Given the description of an element on the screen output the (x, y) to click on. 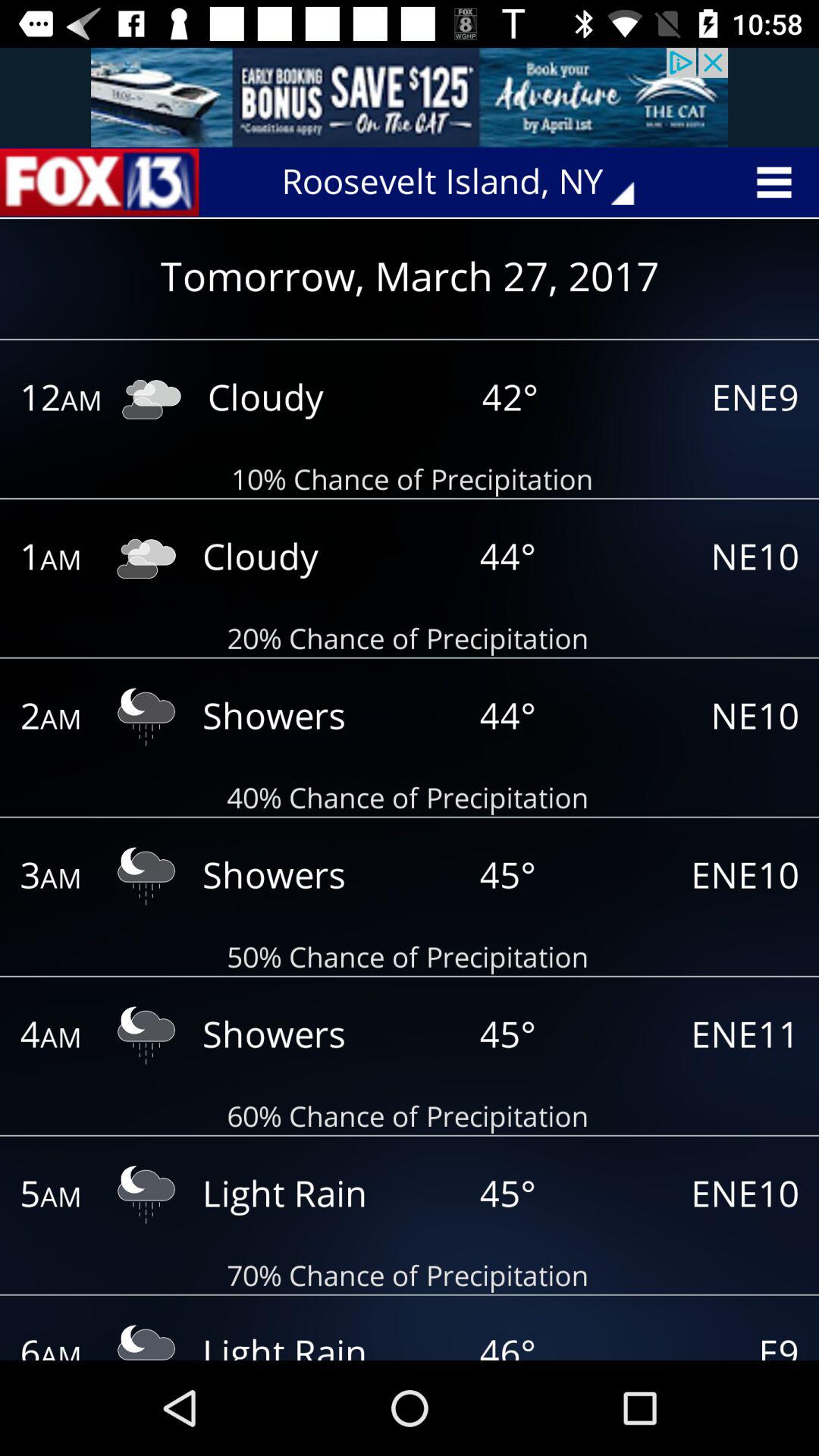
go to home page (99, 182)
